Given the description of an element on the screen output the (x, y) to click on. 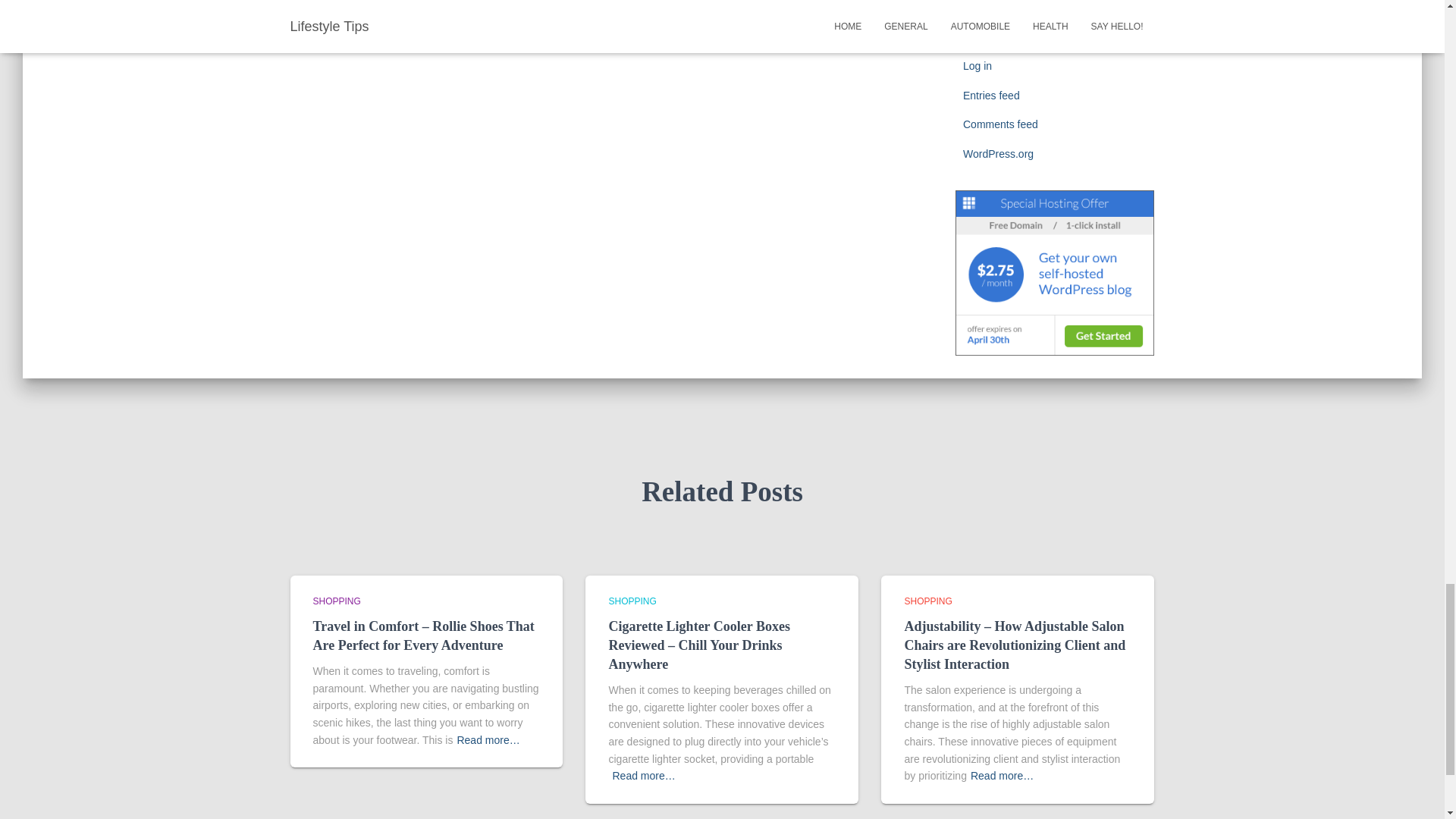
View all posts in Shopping (928, 601)
View all posts in Shopping (632, 601)
View all posts in Shopping (336, 601)
